Given the description of an element on the screen output the (x, y) to click on. 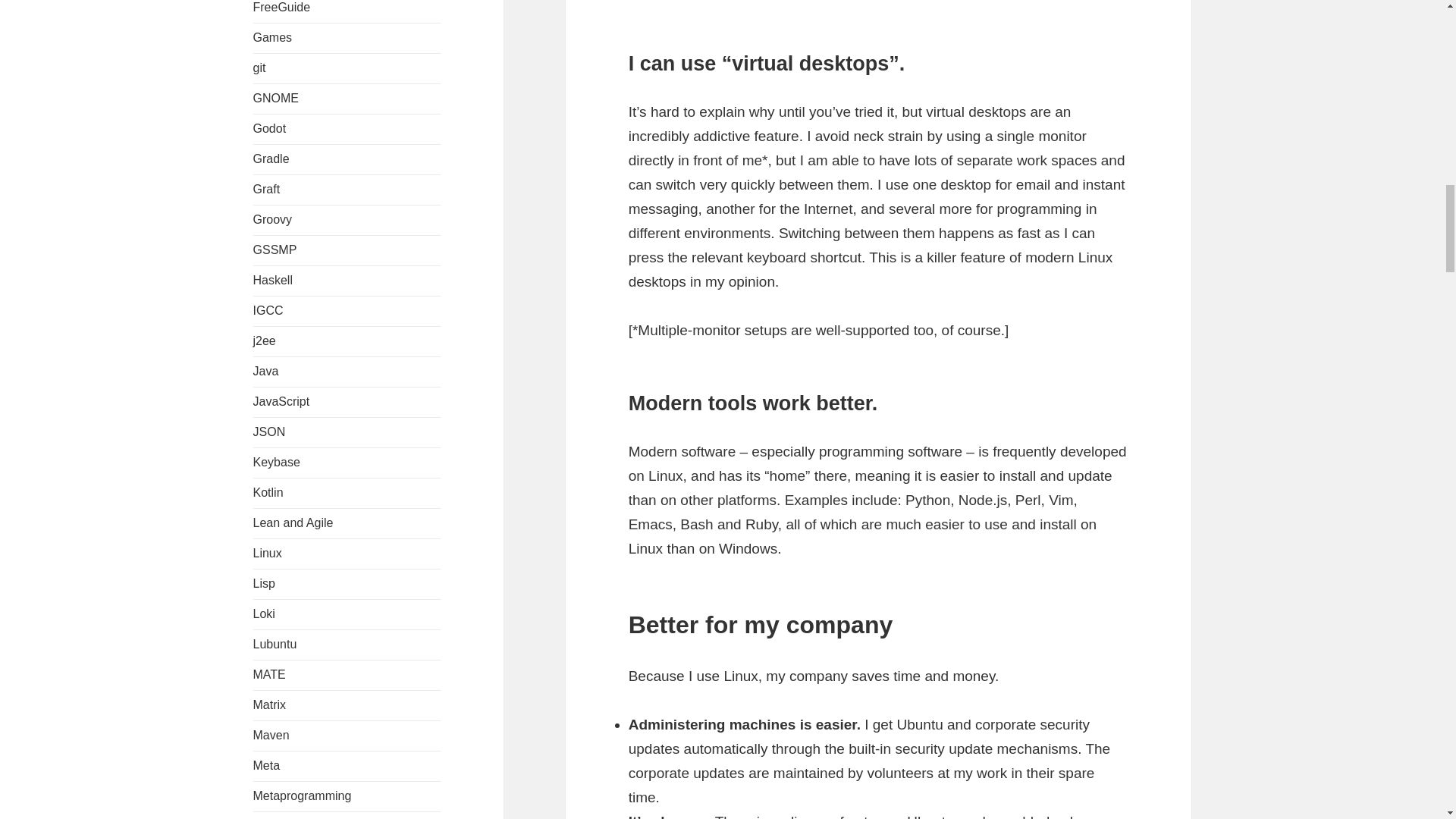
git (259, 67)
Godot (269, 128)
Games (272, 37)
GNOME (275, 97)
FreeGuide (282, 6)
